Given the description of an element on the screen output the (x, y) to click on. 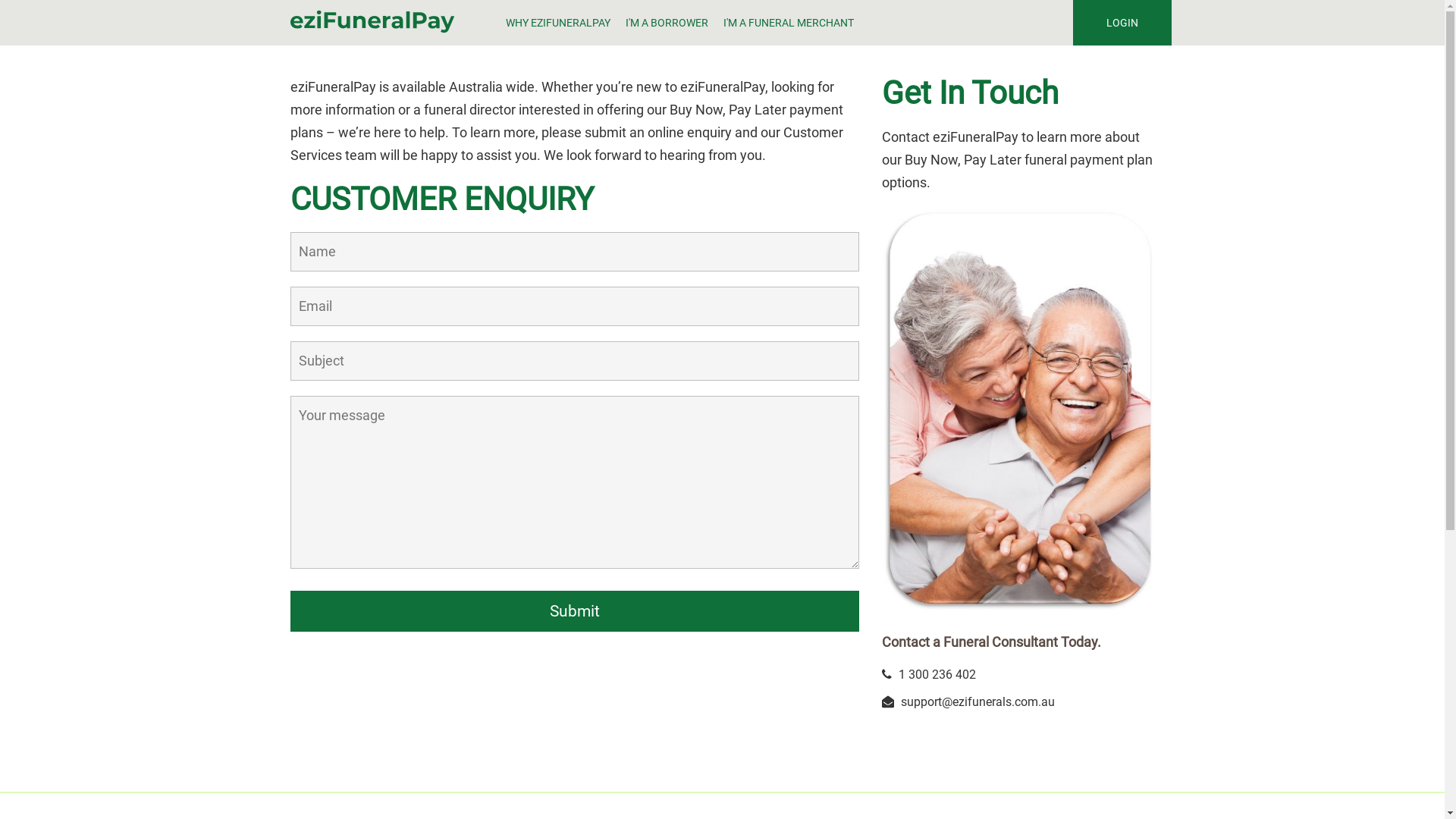
Submit Element type: text (573, 610)
support@ezifunerals.com.au Element type: text (977, 701)
1 300 236 402 Element type: text (936, 674)
I'M A BORROWER Element type: text (666, 22)
I'M A FUNERAL MERCHANT Element type: text (788, 22)
WHY EZIFUNERALPAY Element type: text (558, 22)
LOGIN Element type: text (1122, 22)
